Given the description of an element on the screen output the (x, y) to click on. 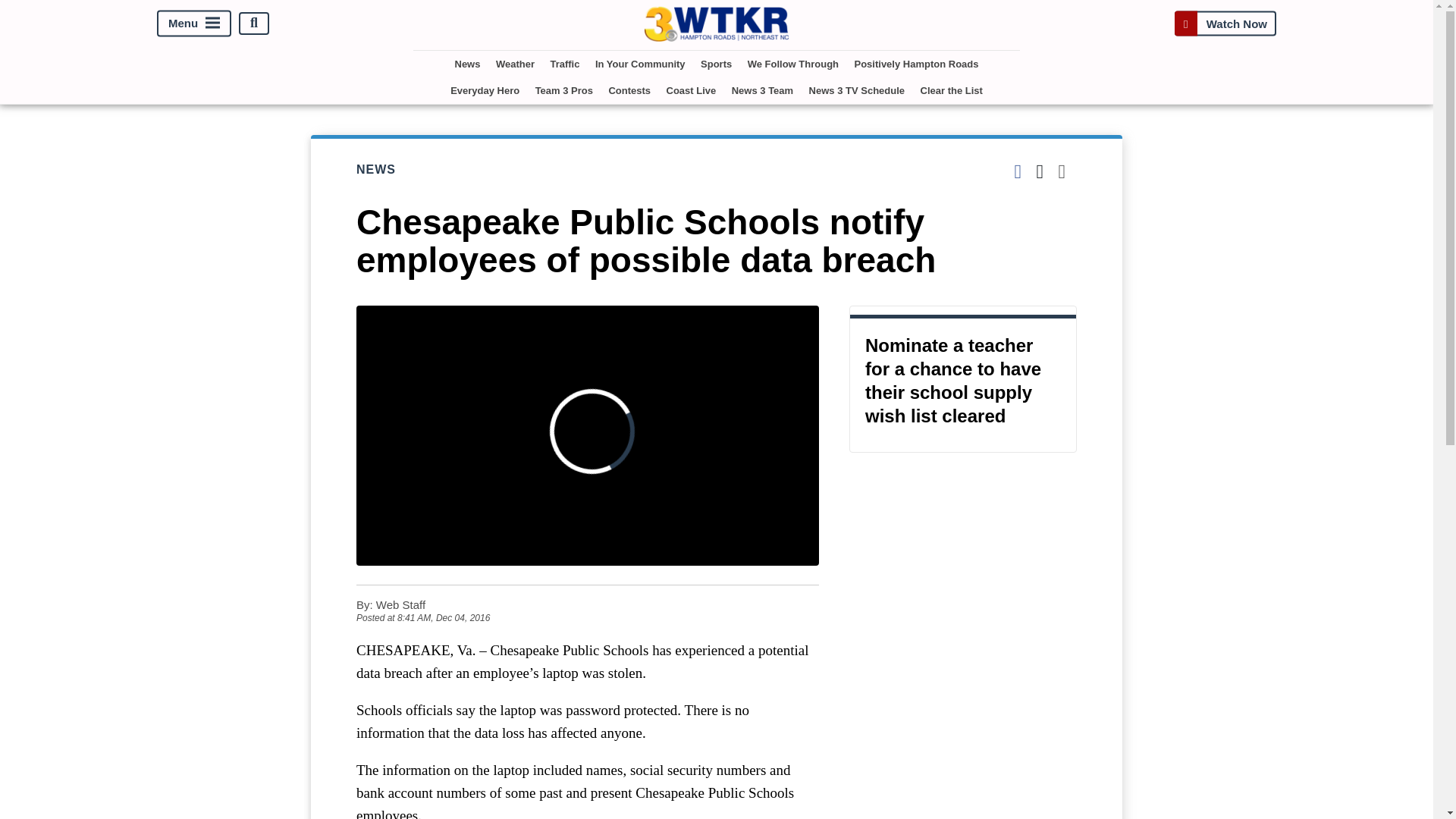
Menu (194, 22)
Watch Now (1224, 22)
